Given the description of an element on the screen output the (x, y) to click on. 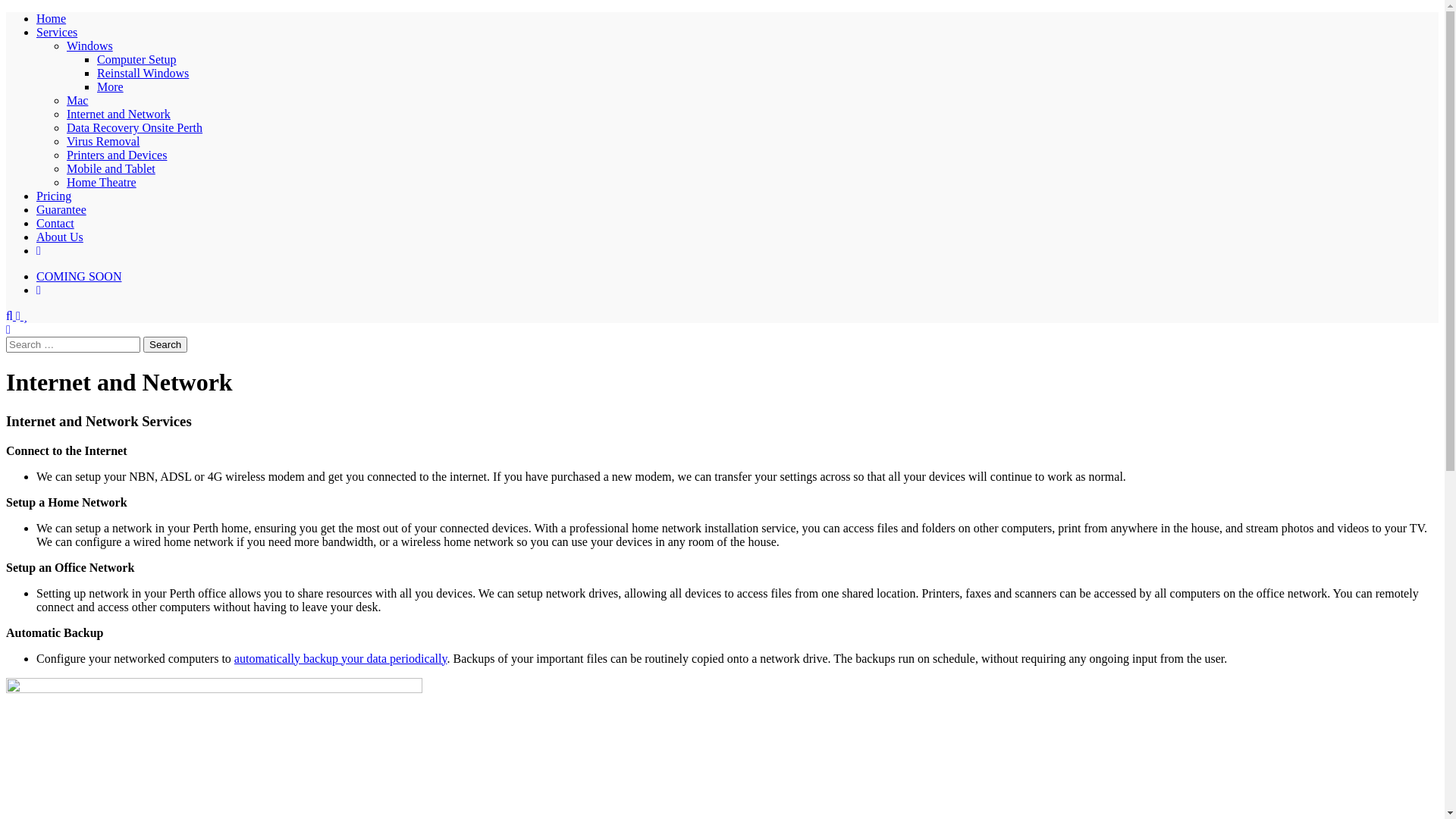
Mobile and Tablet Element type: text (110, 168)
Pricing Element type: text (53, 195)
Virus Removal Element type: text (102, 140)
Search Element type: text (165, 344)
More Element type: text (110, 86)
About Us Element type: text (59, 236)
Data Recovery Onsite Perth Element type: text (134, 127)
Home Element type: text (50, 18)
Guarantee Element type: text (61, 209)
Reinstall Windows Element type: text (142, 72)
Contact Element type: text (55, 222)
automatically backup your data periodically Element type: text (340, 658)
Home Theatre Element type: text (101, 181)
COMING SOON Element type: text (78, 275)
Computer Setup Element type: text (136, 59)
Windows Element type: text (89, 45)
Services Element type: text (56, 31)
Internet and Network Element type: text (118, 113)
Mac Element type: text (76, 100)
Printers and Devices Element type: text (116, 154)
